Given the description of an element on the screen output the (x, y) to click on. 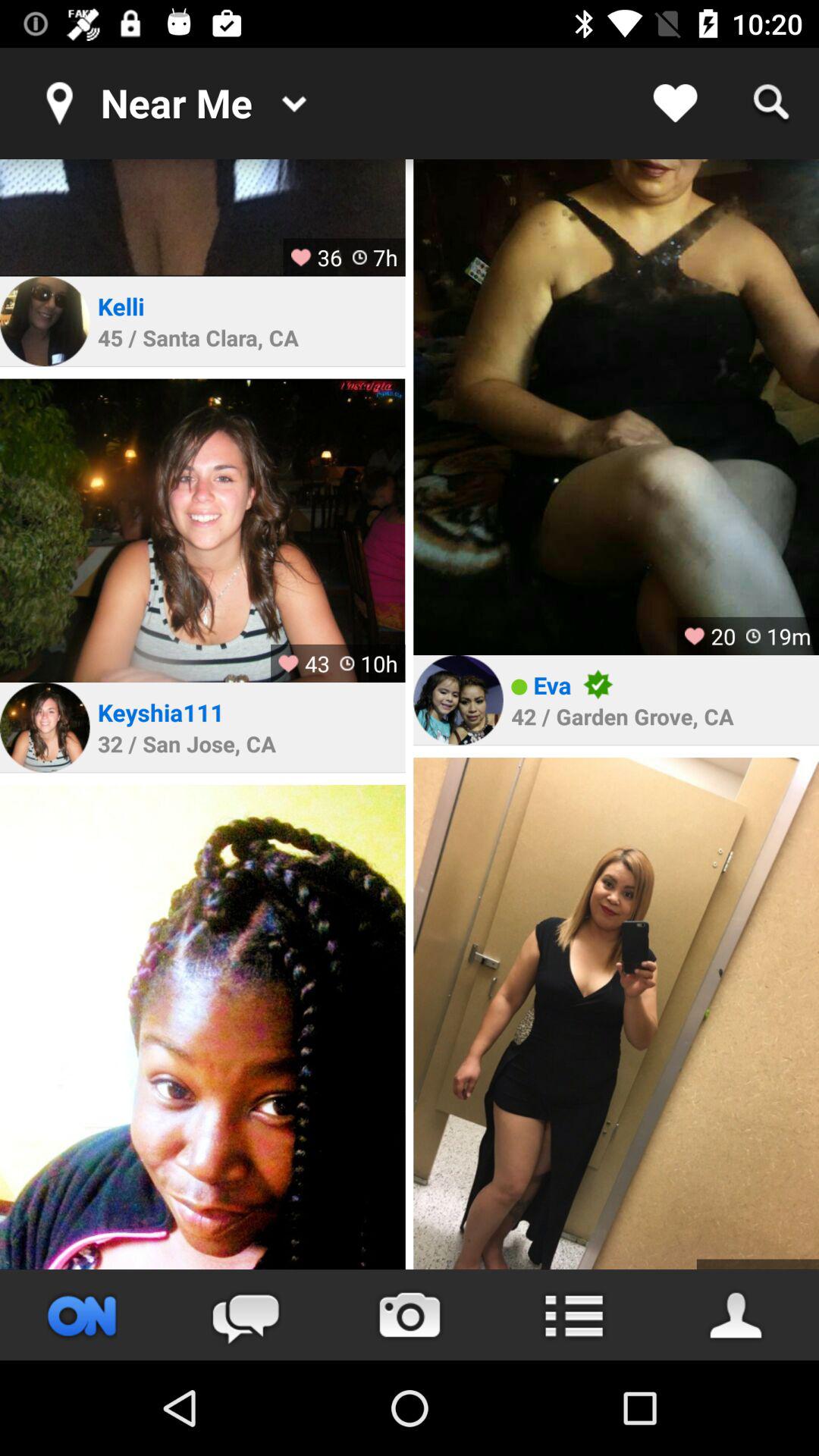
open photo (202, 217)
